Given the description of an element on the screen output the (x, y) to click on. 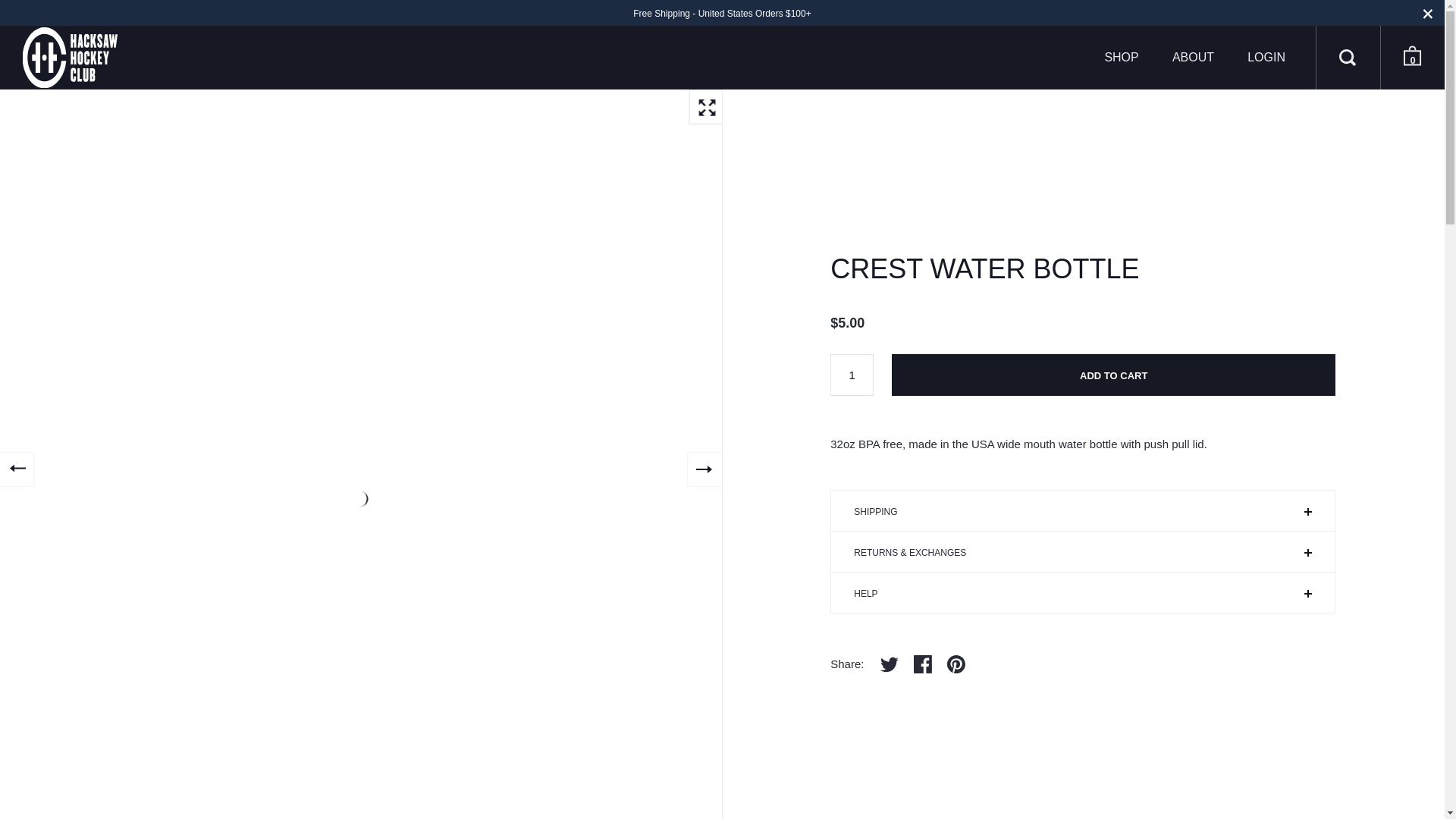
0 (1412, 57)
1 (851, 374)
Zoom in (705, 106)
SHOP (1121, 56)
Open search (1348, 57)
LOGIN (1265, 56)
OK (791, 511)
ADD TO CART (1113, 374)
ABOUT (1192, 56)
